Given the description of an element on the screen output the (x, y) to click on. 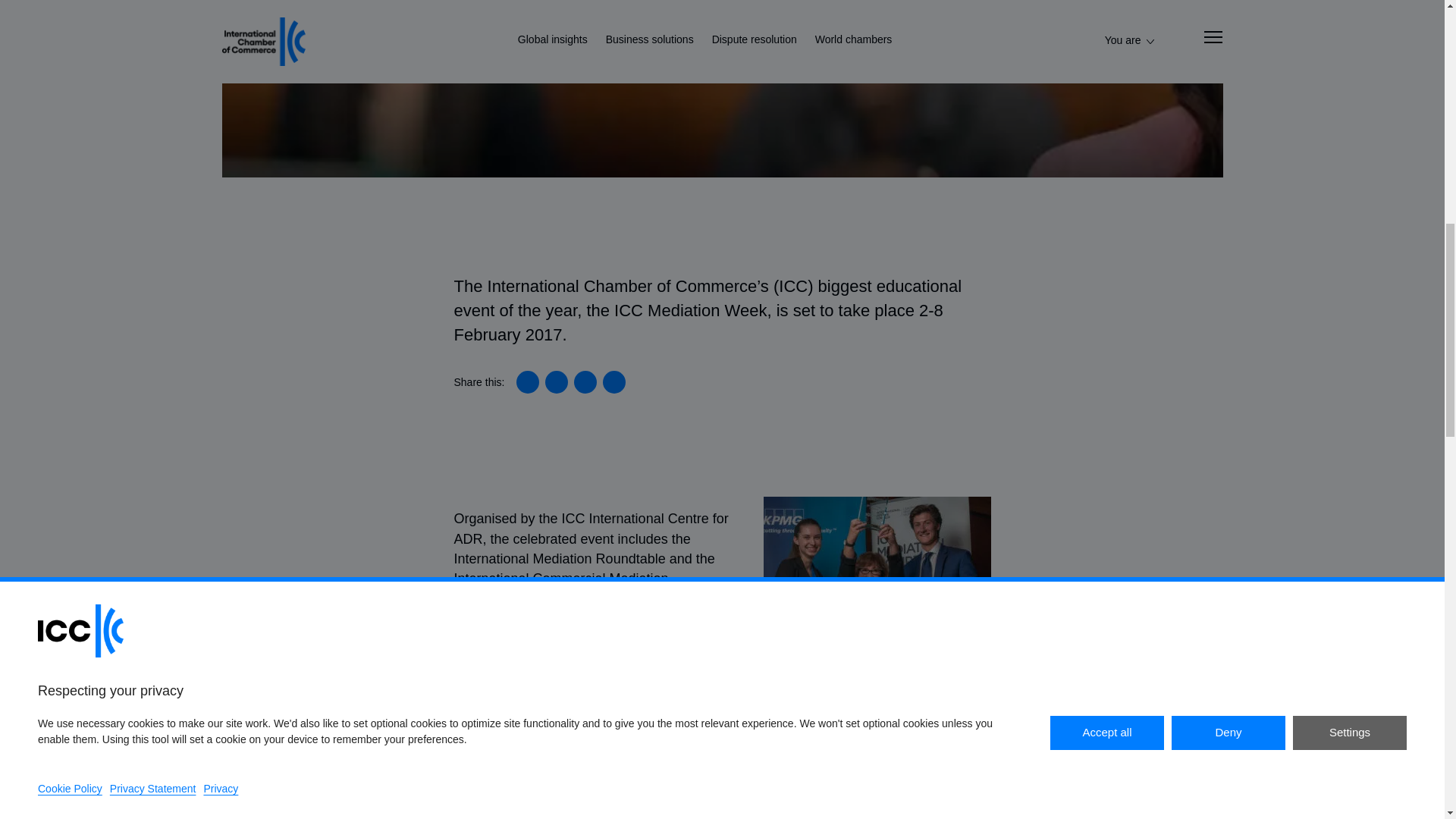
Share on X (555, 382)
Share on Linkedin (527, 382)
Share on Facebook (584, 382)
Share this article with your email software (614, 382)
